Given the description of an element on the screen output the (x, y) to click on. 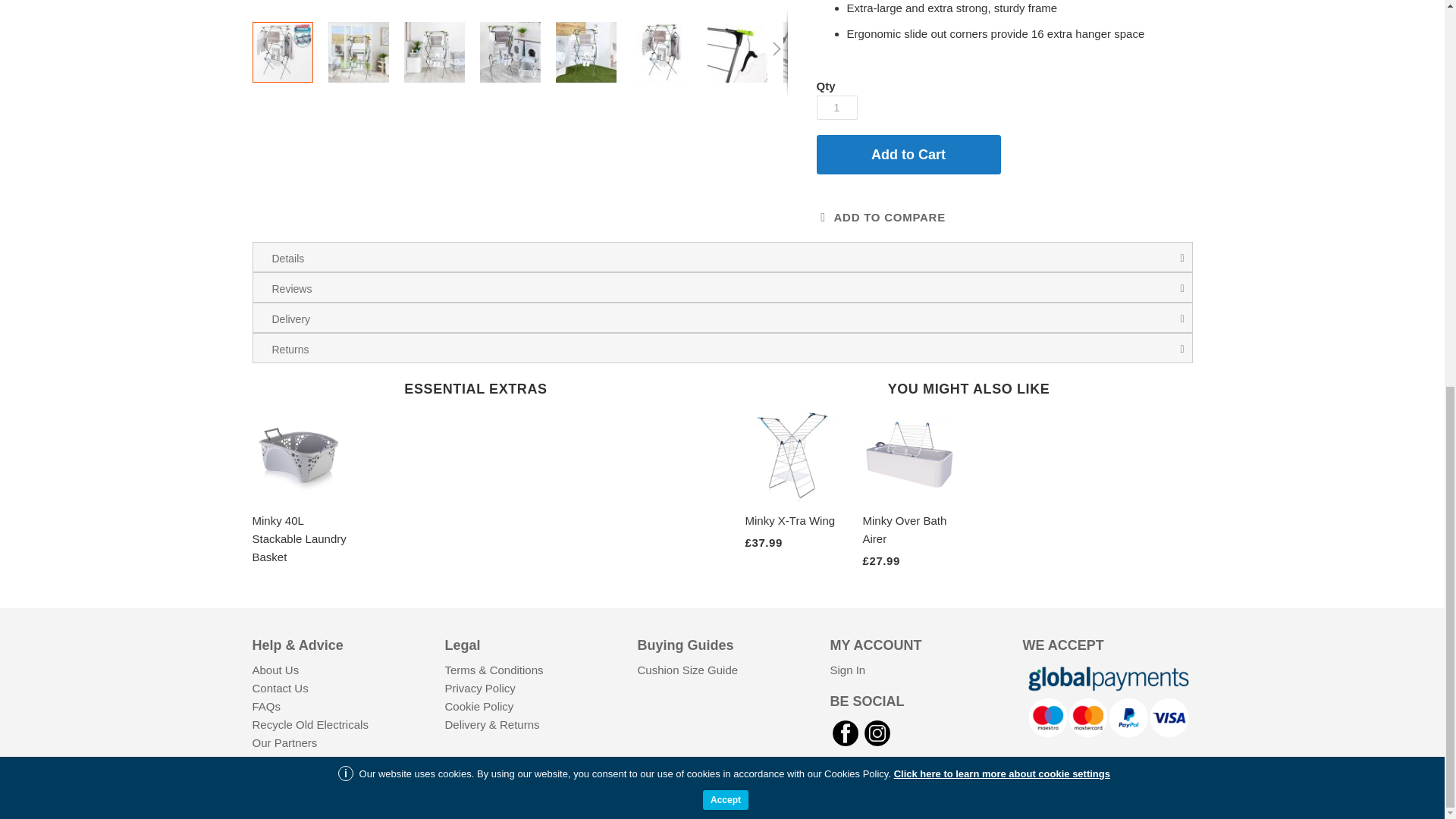
Accept (725, 68)
1 (836, 107)
Add to Cart (907, 154)
Qty (836, 107)
Click here to learn more about cookie settings (1001, 42)
